Given the description of an element on the screen output the (x, y) to click on. 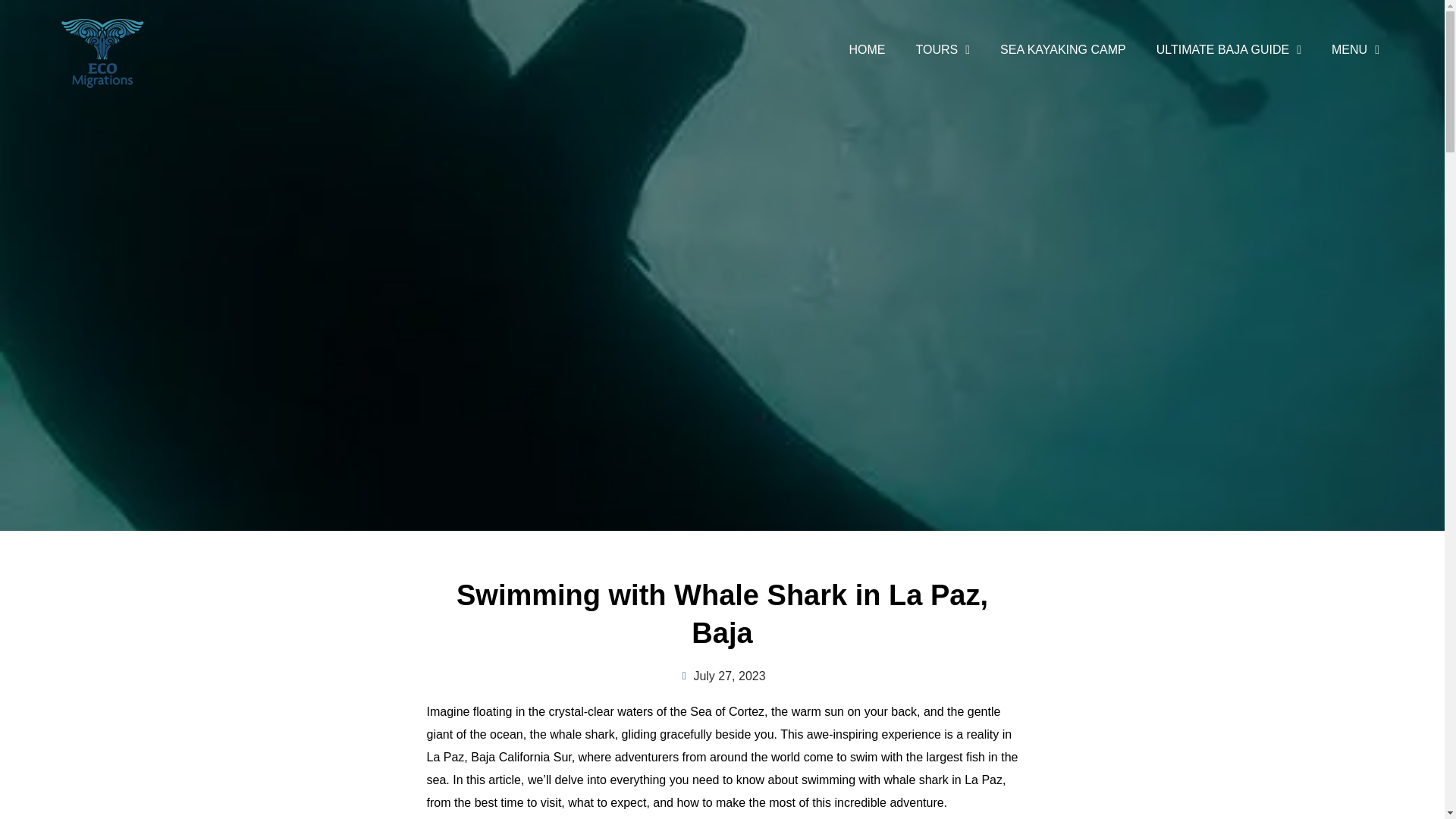
SEA KAYAKING CAMP (1063, 49)
ULTIMATE BAJA GUIDE (1228, 49)
MENU (1355, 49)
TOURS (942, 49)
HOME (865, 49)
